Given the description of an element on the screen output the (x, y) to click on. 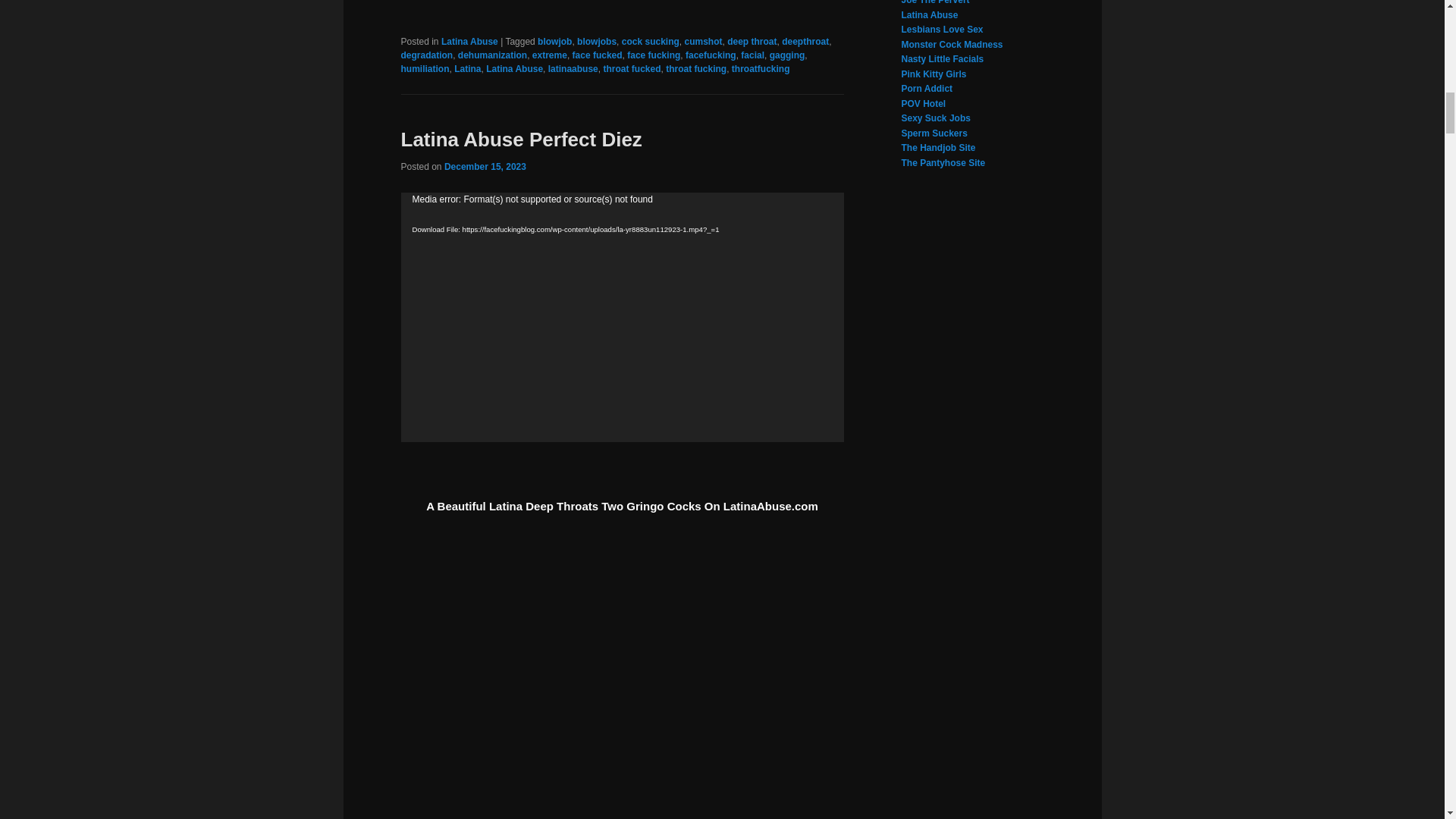
gagging (787, 54)
face fucked (597, 54)
extreme (549, 54)
degradation (426, 54)
blowjob (554, 41)
blowjobs (595, 41)
deepthroat (804, 41)
facial (752, 54)
Latina Abuse (469, 41)
deep throat (751, 41)
dehumanization (492, 54)
cock sucking (650, 41)
facefucking (710, 54)
face fucking (653, 54)
cumshot (703, 41)
